Given the description of an element on the screen output the (x, y) to click on. 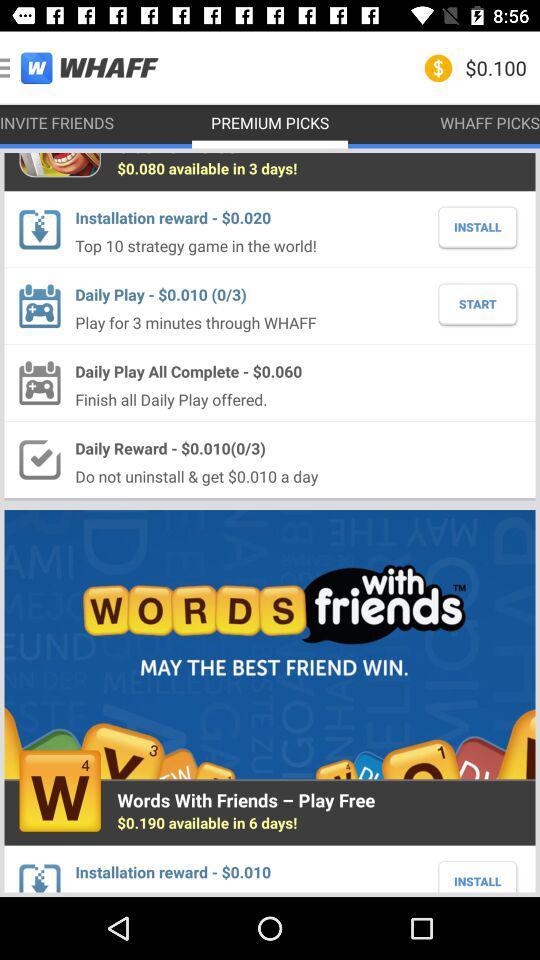
tap the start (477, 304)
